Given the description of an element on the screen output the (x, y) to click on. 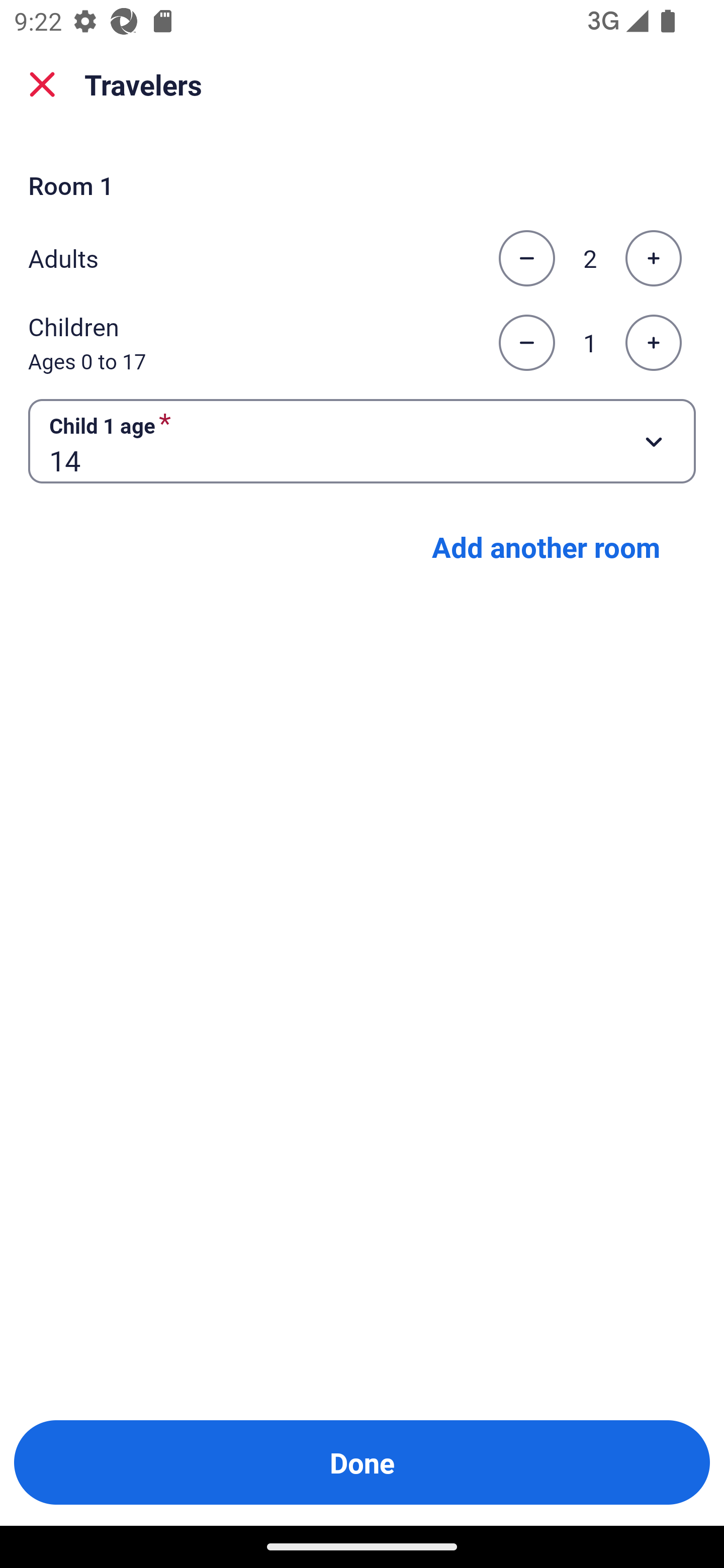
close (42, 84)
Decrease the number of adults (526, 258)
Increase the number of adults (653, 258)
Decrease the number of children (526, 343)
Increase the number of children (653, 343)
Child 1 age required Button 14 (361, 440)
Add another room (545, 546)
Done (361, 1462)
